Given the description of an element on the screen output the (x, y) to click on. 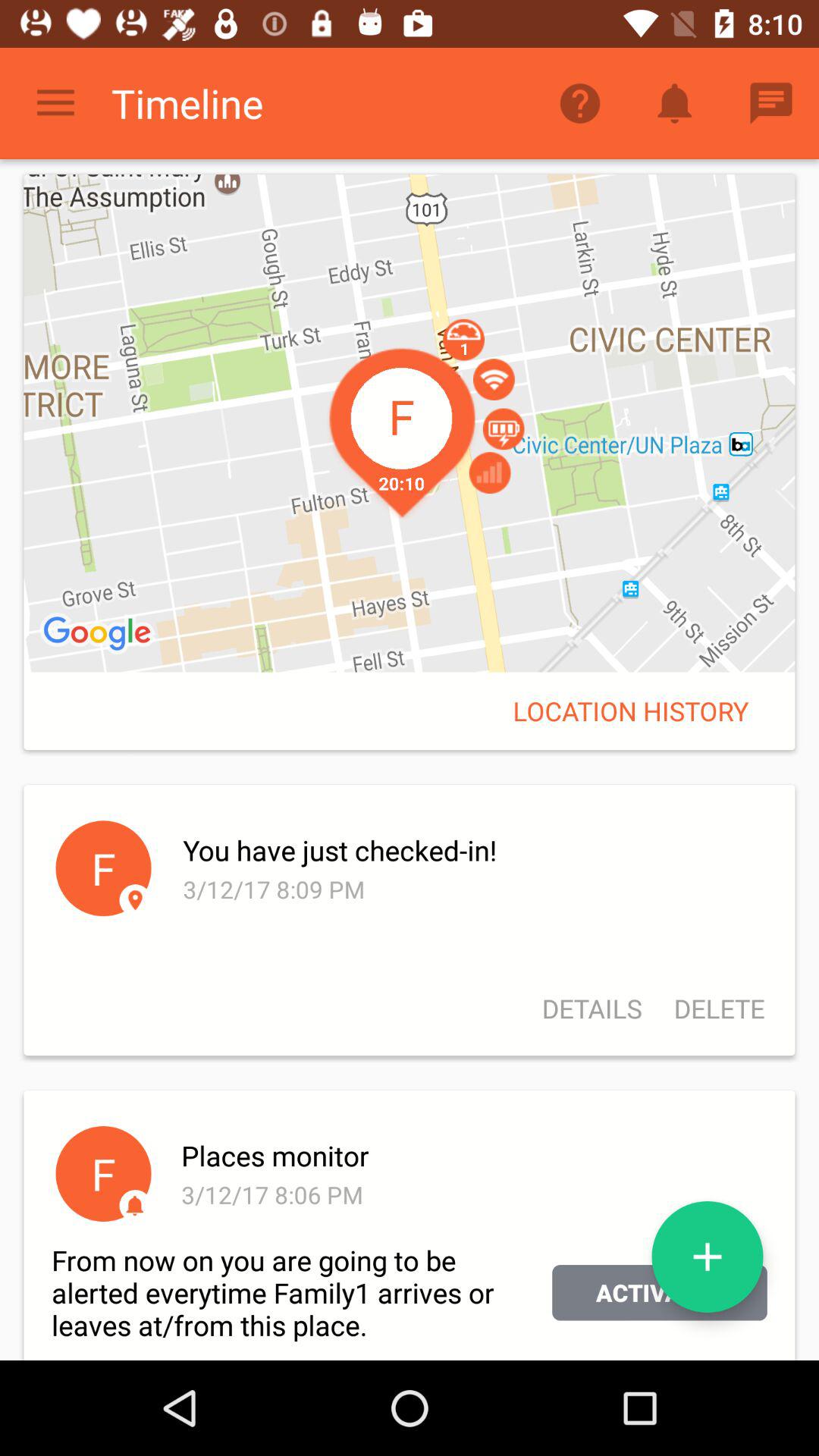
turn on the icon above places monitor icon (711, 1008)
